Given the description of an element on the screen output the (x, y) to click on. 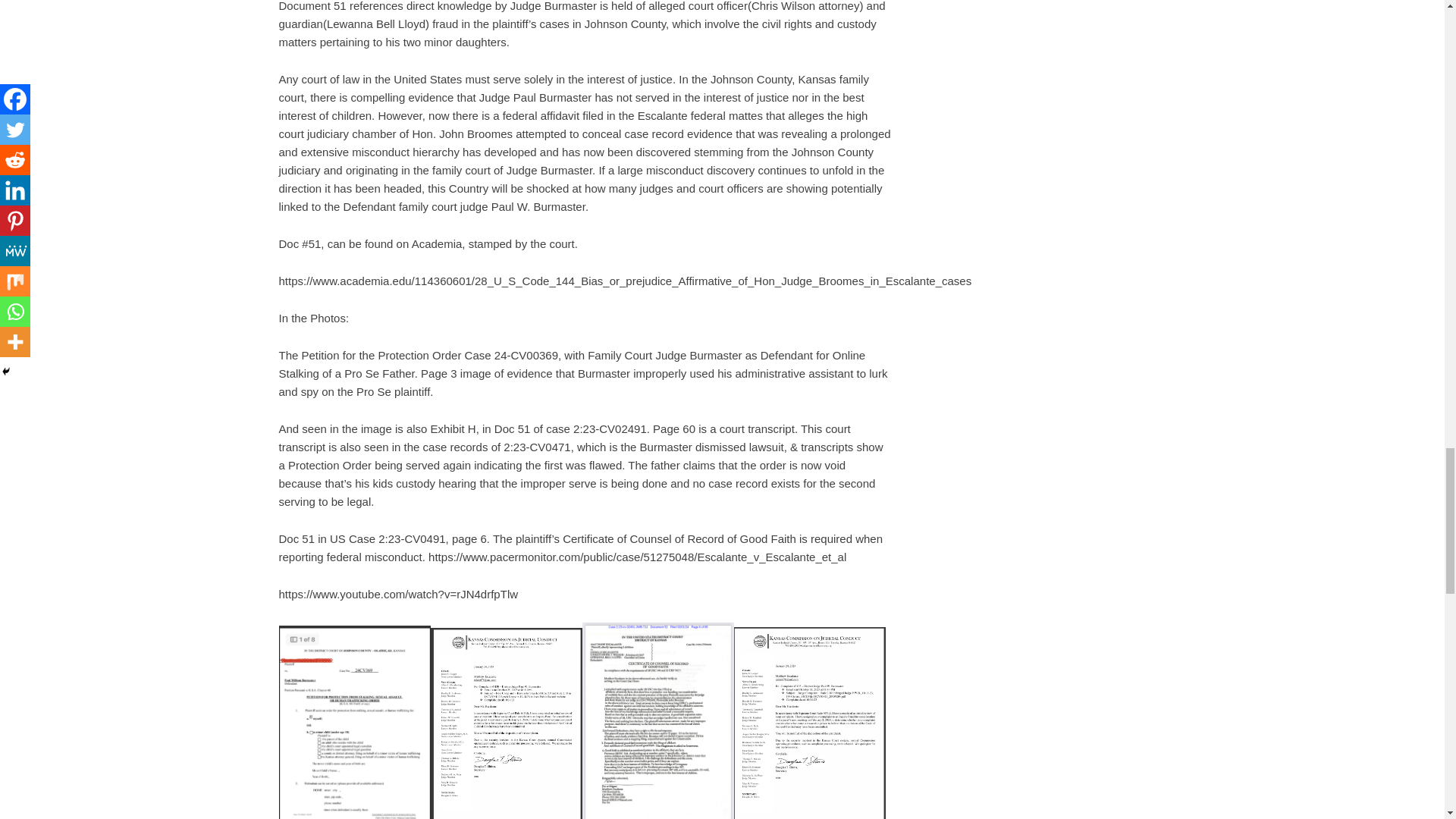
Judge Burmaster Investigative Series on YouTube (398, 594)
